Given the description of an element on the screen output the (x, y) to click on. 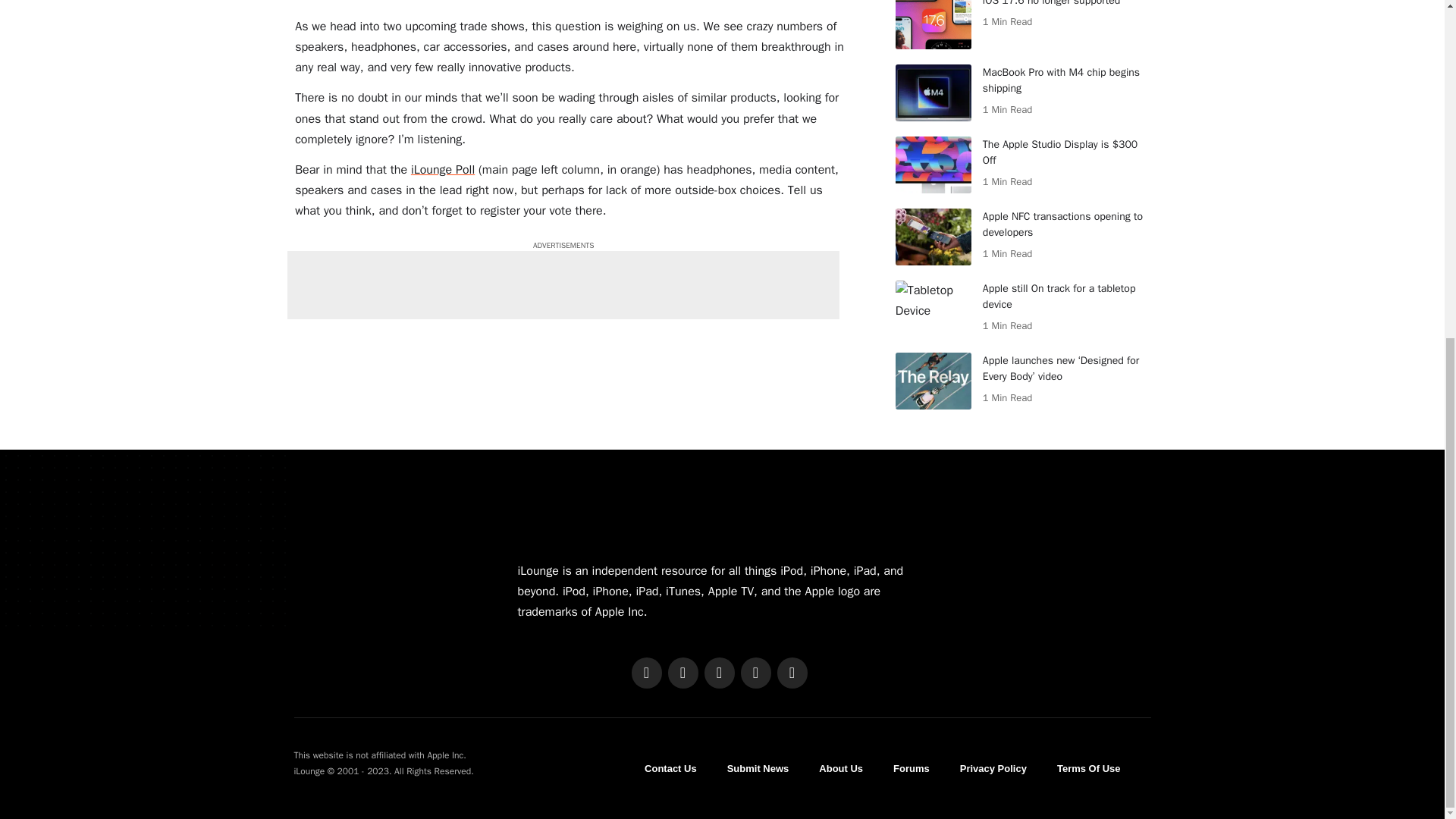
Facebook (645, 672)
iOS 17.6 no longer supported (933, 24)
Advertisement (563, 284)
MacBook Pro with M4 chip begins shipping (933, 92)
Apple NFC transactions opening to developers (933, 236)
Apple still On track for a tabletop device (933, 308)
